Given the description of an element on the screen output the (x, y) to click on. 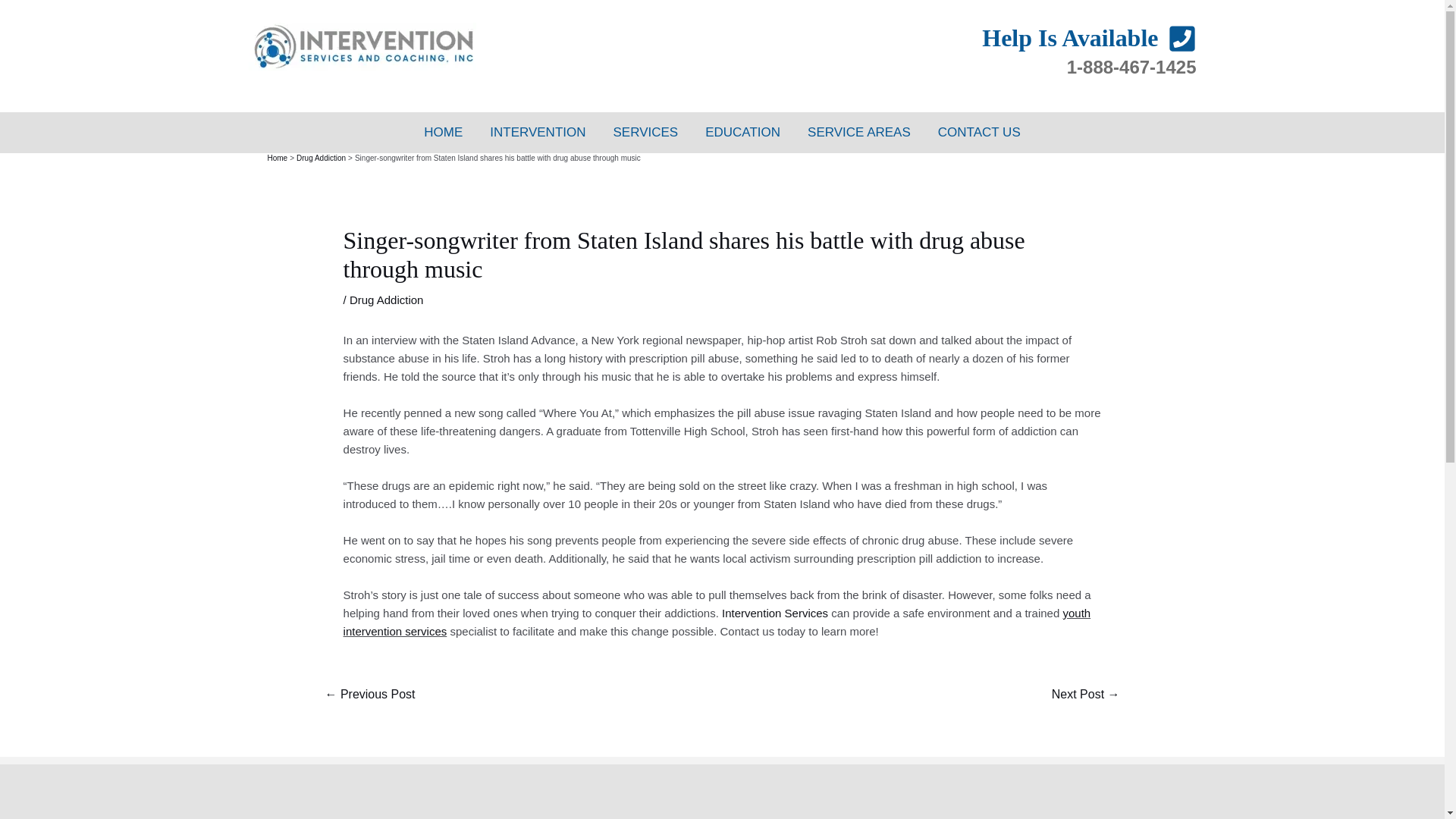
SERVICES (646, 132)
Knowing the signs: Heroin abuse (368, 695)
HOME (443, 132)
SERVICE AREAS (858, 132)
EDUCATION (742, 132)
INTERVENTION (537, 132)
CONTACT US (978, 132)
